Given the description of an element on the screen output the (x, y) to click on. 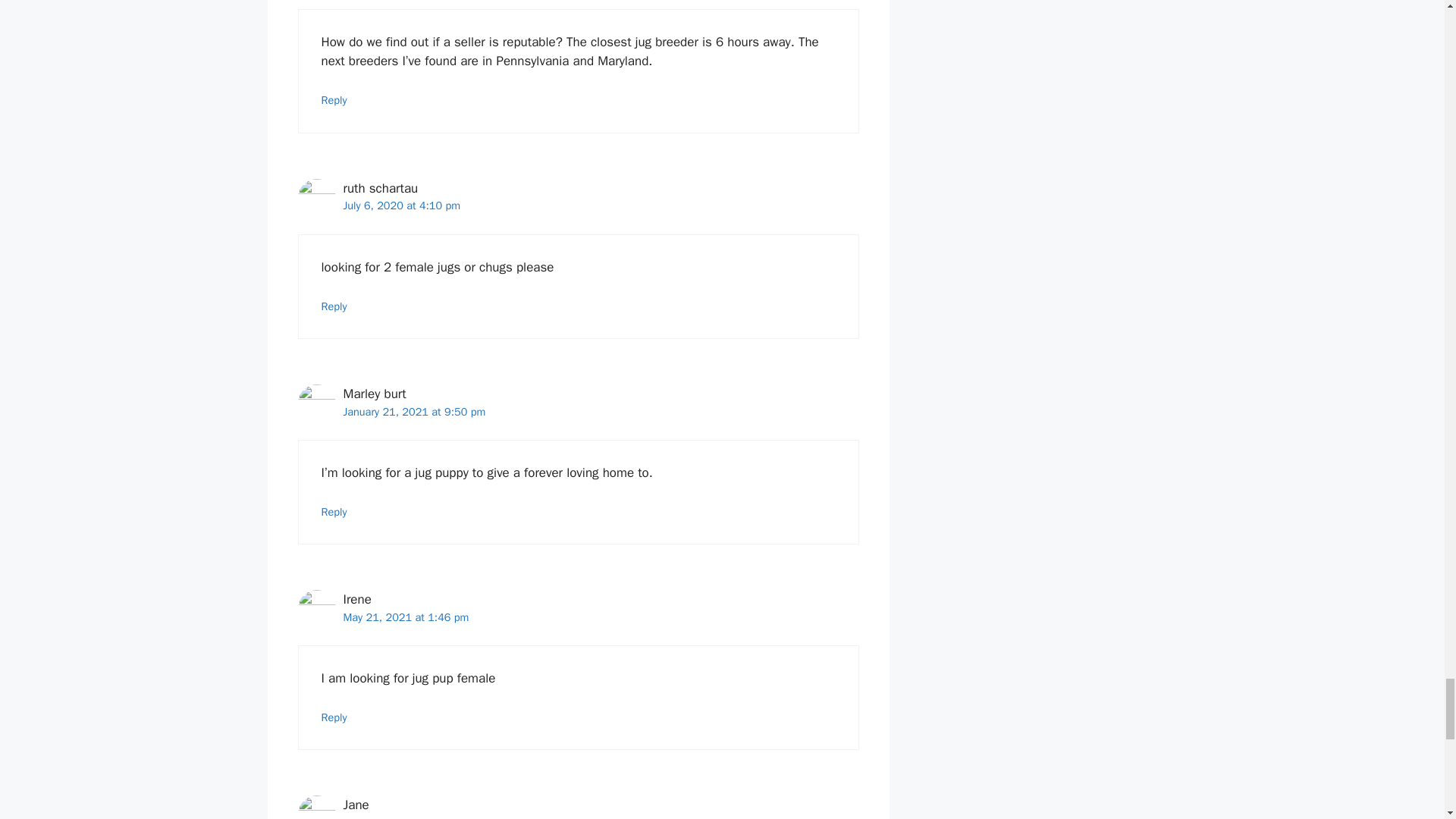
Reply (334, 716)
Reply (334, 100)
August 31, 2021 at 11:33 pm (414, 817)
Reply (334, 511)
January 21, 2021 at 9:50 pm (413, 411)
Reply (334, 305)
July 6, 2020 at 4:10 pm (401, 205)
May 21, 2021 at 1:46 pm (405, 617)
